Given the description of an element on the screen output the (x, y) to click on. 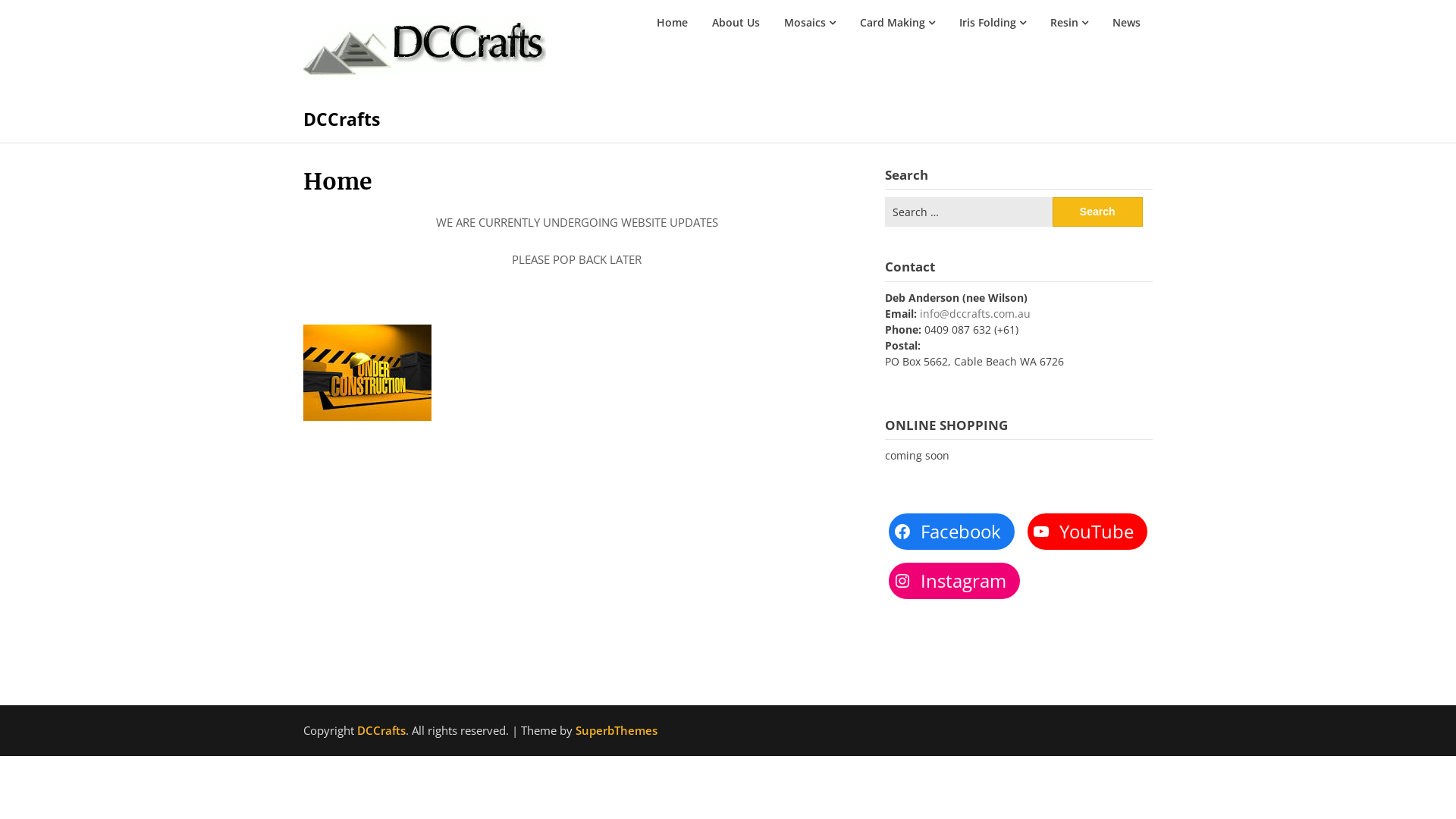
info@dccrafts.com.au Element type: text (974, 313)
DCCrafts Element type: text (341, 118)
Instagram Element type: text (953, 580)
News Element type: text (1126, 22)
YouTube Element type: text (1087, 531)
DCCrafts Element type: text (381, 729)
Skip to content Element type: text (302, 164)
Iris Folding Element type: text (992, 22)
Resin Element type: text (1069, 22)
Search Element type: text (1097, 211)
SuperbThemes Element type: text (616, 729)
NEWSLETTER SIGN UP Element type: text (1018, 650)
Card Making Element type: text (897, 22)
Mosaics Element type: text (809, 22)
Facebook Element type: text (951, 531)
Home Element type: text (671, 22)
About Us Element type: text (735, 22)
